Given the description of an element on the screen output the (x, y) to click on. 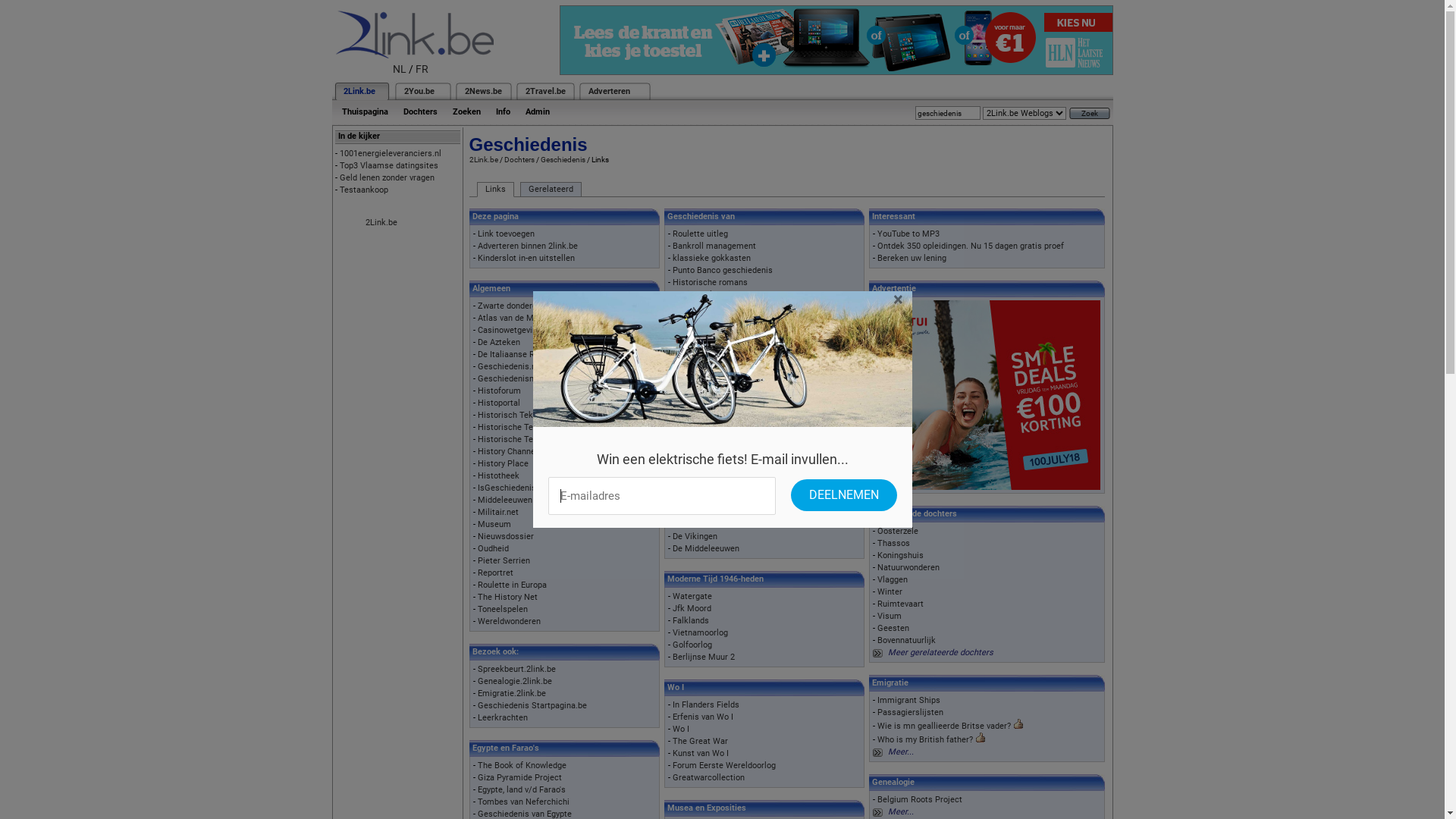
Punto Banco geschiedenis Element type: text (722, 270)
Dochters Element type: text (420, 111)
Zoeken Element type: text (465, 111)
Infonu Vrouwen in de middeleeuwen Element type: text (740, 475)
Historische Teksten Duitsland Element type: text (534, 439)
The Book of Knowledge Element type: text (521, 765)
IsGeschiedenis Element type: text (506, 487)
Genealogie.2link.be Element type: text (514, 681)
Belgium Roots Project Element type: text (919, 799)
Wetenschap Element type: text (695, 343)
Giza Pyramide Project Element type: text (519, 777)
YouTube to MP3 Element type: text (908, 233)
Middeleeuwen Artikel Element type: text (518, 500)
Vietnamoorlog Element type: text (700, 632)
Watergate Element type: text (692, 596)
Meer... Element type: text (900, 751)
Leven in de Middeleeuwen Element type: text (721, 512)
Vlaamse Beweging Element type: text (708, 355)
Egypte, land v/d Farao's Element type: text (521, 789)
Link toevoegen Element type: text (505, 233)
Zwarte donderdag Element type: text (511, 305)
Geschiedenis.net Element type: text (510, 366)
Wereldwonderen Element type: text (508, 621)
Tombes van Neferchichi Element type: text (523, 801)
Oosterzele Element type: text (897, 531)
Historische Teksten 1500-heden Element type: text (538, 427)
Atlas van de Mythologie Element type: text (522, 318)
Oudheid Element type: text (492, 548)
Berlijnse Muur 2 Element type: text (703, 657)
De Rechtvaardige Rechters Element type: text (723, 428)
Geld lenen zonder vragen Element type: text (386, 177)
Forum Eerste Wereldoorlog Element type: text (723, 765)
Histoforum Element type: text (498, 390)
Histotheek Element type: text (498, 475)
Top3 Vlaamse datingsites Element type: text (388, 165)
The History Net Element type: text (507, 597)
1001energieleveranciers.nl Element type: text (390, 153)
Bier Element type: text (679, 306)
Golfoorlog Element type: text (692, 644)
Histoportal Element type: text (498, 402)
In Flanders Fields Element type: text (705, 704)
Thuispagina Element type: text (364, 111)
Alles over de Middeleeuwen Element type: text (725, 500)
Militair.net Element type: text (497, 512)
Oorlog Element type: text (684, 367)
Kunst van Wo I Element type: text (700, 753)
Ancient Olympics Element type: text (705, 294)
2Travel.be Element type: text (544, 91)
Toneelspelen Element type: text (502, 609)
NL Element type: text (399, 68)
Historisch Tekst Archief Element type: text (523, 415)
Greatwarcollection Element type: text (708, 777)
Ontdek 350 opleidingen. Nu 15 dagen gratis proef Element type: text (970, 246)
De Vikingen Element type: text (694, 536)
Koningshuis Element type: text (900, 555)
Meer... Element type: text (900, 811)
Casinowetgeving.nl Element type: text (513, 330)
Info Element type: text (502, 111)
FR Element type: text (421, 68)
Thassos Element type: text (893, 543)
Bankroll management Element type: text (714, 246)
2News.be Element type: text (482, 91)
Adverteren binnen 2link.be Element type: text (527, 246)
2Link.be Element type: text (381, 222)
Infonu - Constance van Antiochie Element type: text (734, 487)
Admin Element type: text (536, 111)
Who is my British father? Element type: text (924, 739)
Kalenders in de Nederlanden. Element type: text (727, 415)
Roulette in Europa Element type: text (511, 584)
Roulette uitleg Element type: text (700, 233)
De Middeleeuwen Element type: text (705, 548)
Falklands Element type: text (690, 620)
Winter Element type: text (889, 591)
Geschiedenis Startpagina.be Element type: text (531, 705)
Paarden Element type: text (687, 379)
Mercedes Benz Element type: text (701, 391)
Spreekbeurt.2link.be Element type: text (516, 669)
Jfk Moord Element type: text (691, 608)
Museum Element type: text (494, 524)
Zoek Element type: text (1089, 113)
2Link.be Element type: text (482, 159)
Wo I Element type: text (680, 729)
Emigratie.2link.be Element type: text (511, 693)
klassieke gokkasten Element type: text (711, 258)
Adverteren Element type: text (609, 91)
Pieter Serrien Element type: text (503, 560)
Kleding Element type: text (686, 318)
2You.be Element type: text (418, 91)
Dwalen door de Middeleeuwen Element type: text (729, 524)
Vliegtuigen Element type: text (693, 403)
History Place Element type: text (502, 463)
Geesten Element type: text (893, 628)
Testaankoop Element type: text (363, 189)
Leerkrachten Element type: text (502, 717)
De Azteken Element type: text (498, 342)
Ruimtevaart Element type: text (900, 603)
Geschiedenis Element type: text (561, 159)
Immigrant Ships Element type: text (908, 700)
Fotografie Element type: text (691, 330)
Geschiedenisnet Element type: text (509, 378)
Kinderslot in-en uitstellen Element type: text (525, 258)
De Italiaanse Renaissance Element type: text (527, 354)
History Channel Element type: text (507, 451)
2Link.be Element type: text (358, 91)
Meer gerelateerde dochters Element type: text (940, 652)
Dochters Element type: text (518, 159)
Bovennatuurlijk Element type: text (906, 640)
Passagierslijsten Element type: text (910, 712)
Links Element type: text (494, 189)
Nieuwsdossier Element type: text (505, 536)
Visum Element type: text (889, 616)
The Great War Element type: text (700, 741)
Gerelateerd Element type: text (550, 189)
Natuurwonderen Element type: text (908, 567)
Vlaggen Element type: text (892, 579)
Erfenis van Wo I Element type: text (702, 716)
Historische romans Element type: text (709, 282)
Bereken uw lening Element type: text (911, 258)
Wie is mn geallieerde Britse vader? Element type: text (943, 726)
Reportret Element type: text (495, 572)
